Given the description of an element on the screen output the (x, y) to click on. 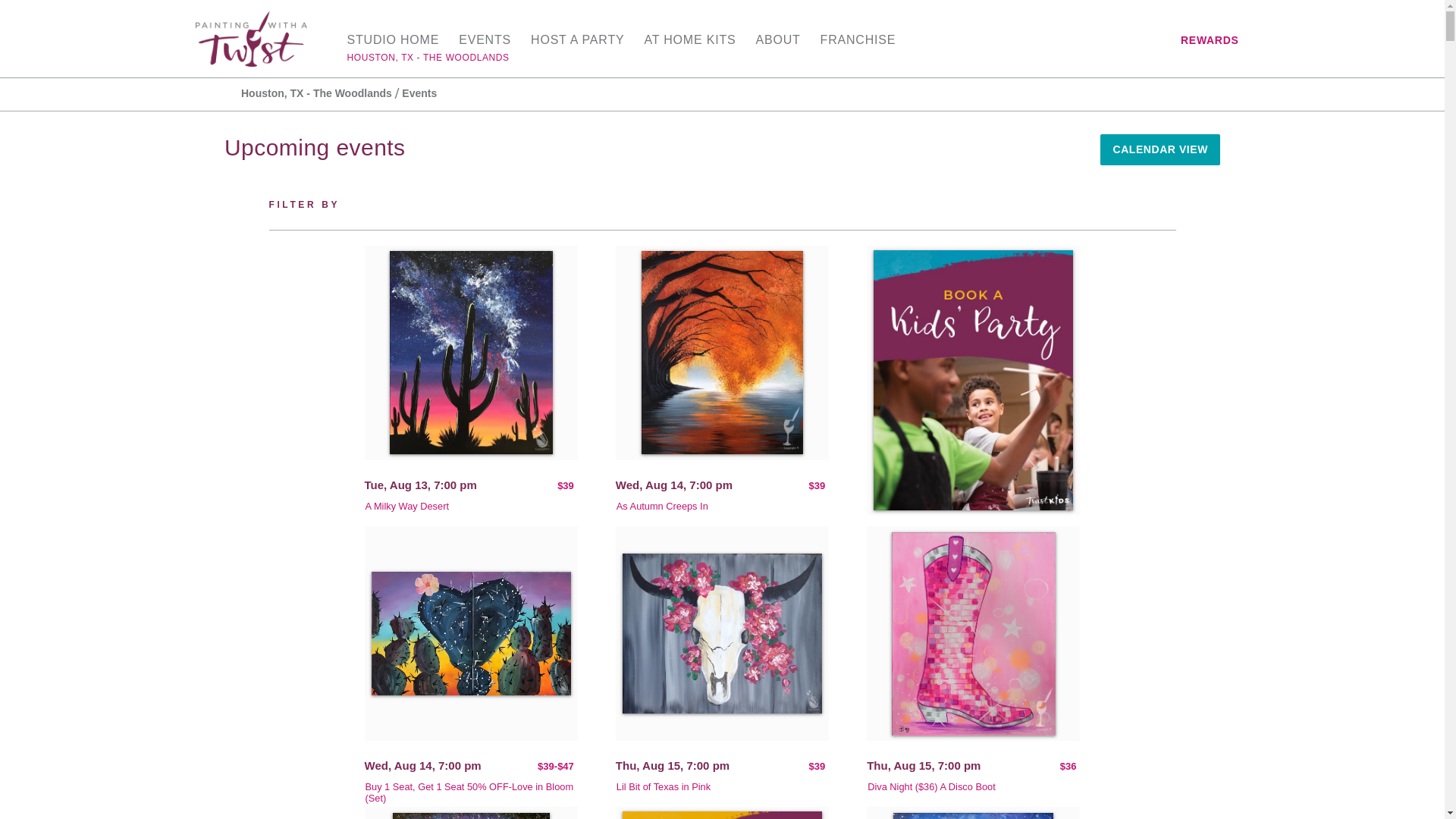
Lil Bit of Texas in Pink (662, 786)
STUDIO HOME (393, 39)
AT HOME KITS (689, 39)
REWARDS (1209, 39)
ABOUT (777, 39)
As Autumn Creeps In (661, 505)
CALENDAR VIEW (1160, 149)
Events (415, 93)
Houston, TX - The Woodlands (316, 93)
A Milky Way Desert (406, 505)
